Given the description of an element on the screen output the (x, y) to click on. 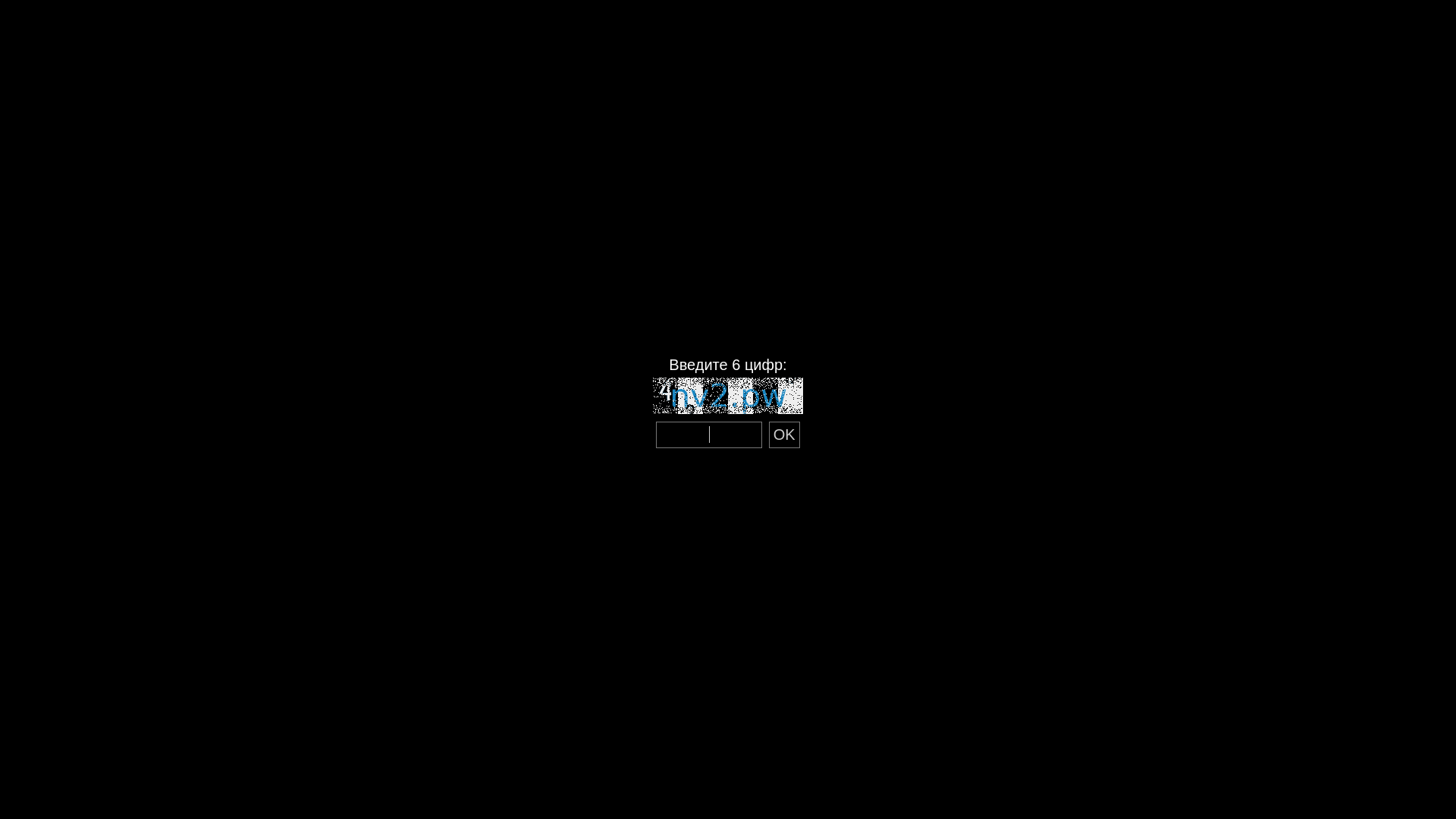
OK Element type: text (784, 434)
